Given the description of an element on the screen output the (x, y) to click on. 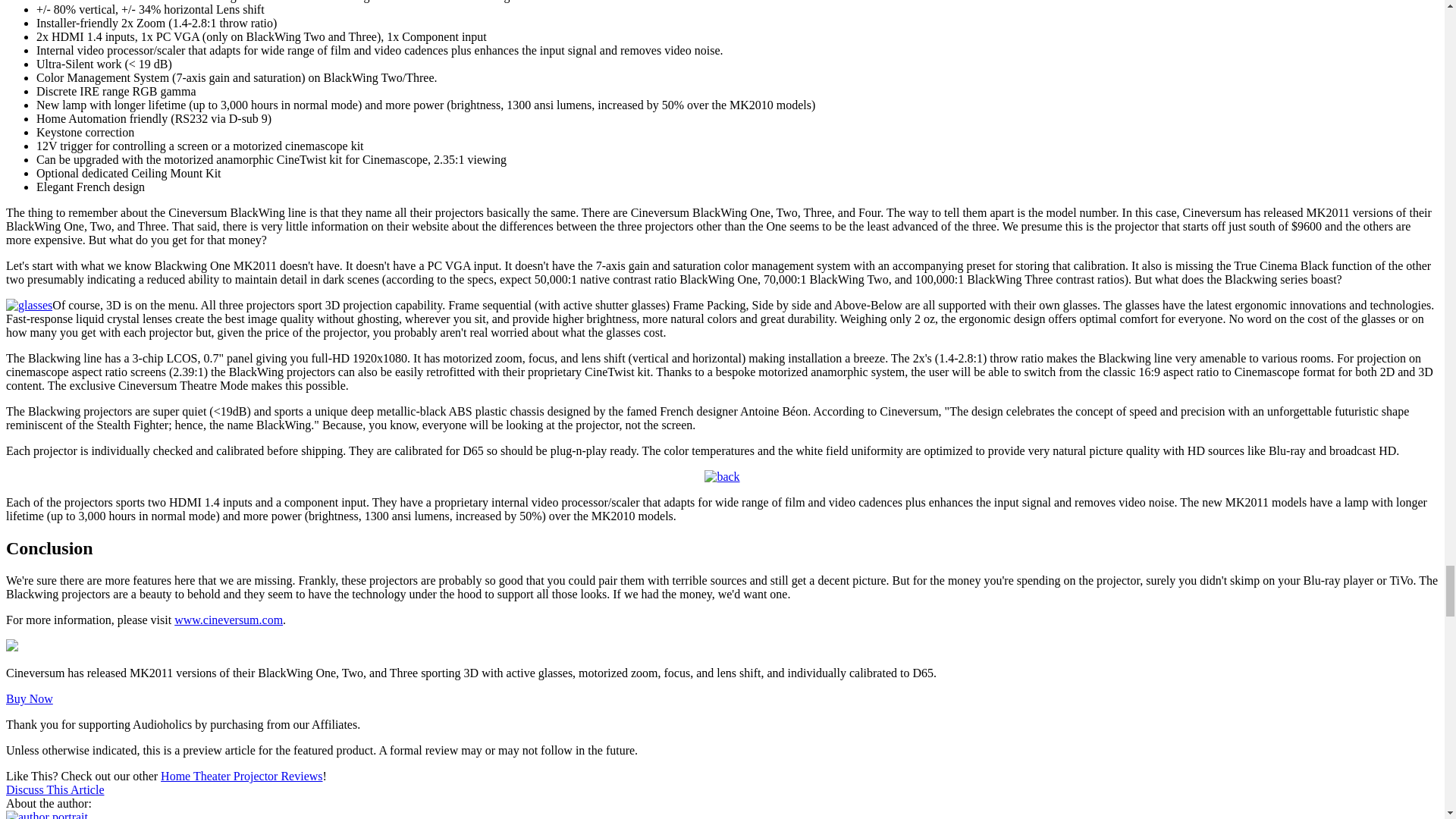
back (721, 476)
author portrait (46, 814)
glasses (28, 305)
